Given the description of an element on the screen output the (x, y) to click on. 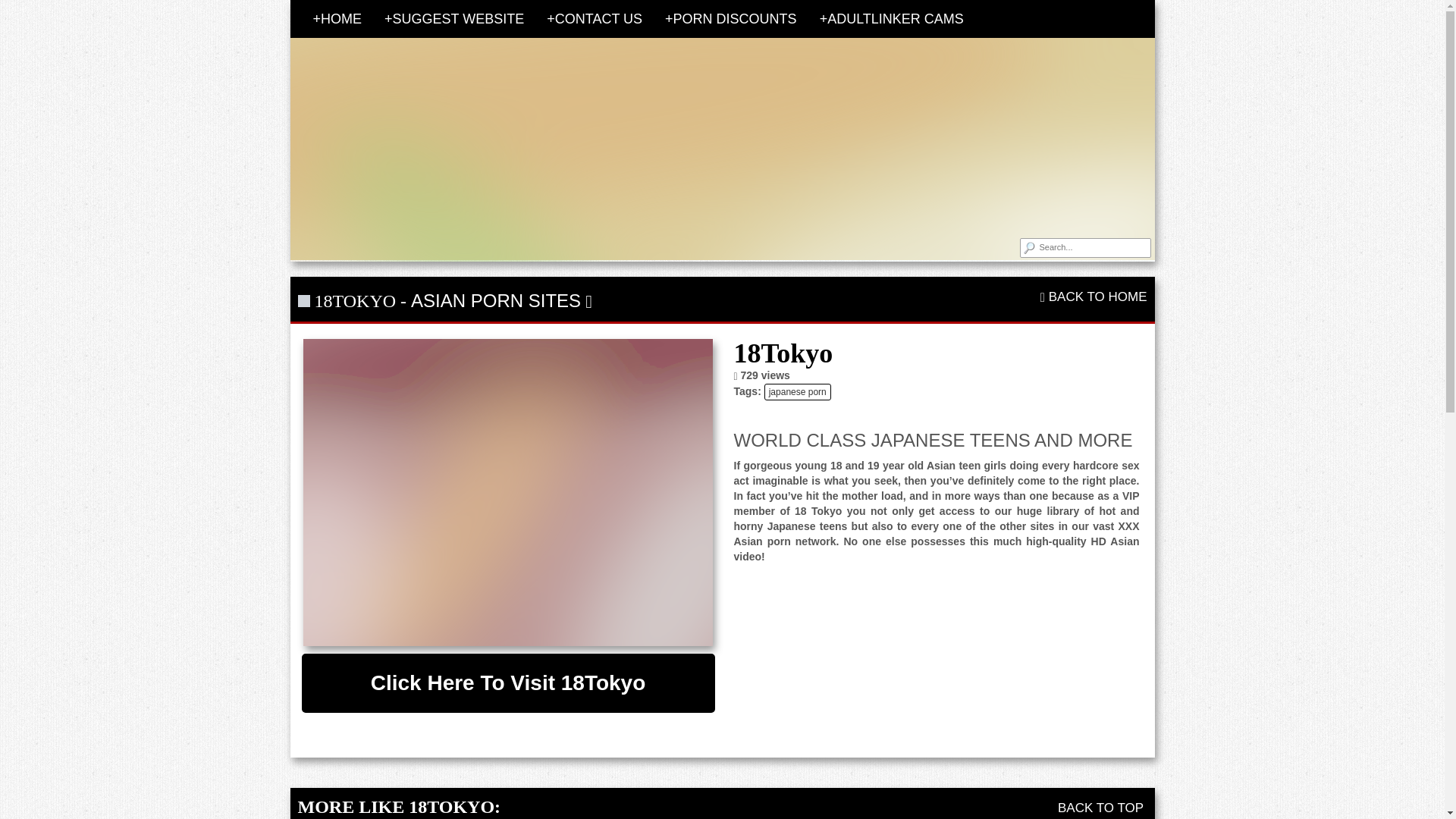
18Tokyo (507, 492)
18Tokyo (507, 492)
ASIAN PORN SITES (495, 300)
Click Here To Visit 18Tokyo (507, 682)
japanese porn (797, 392)
BACK TO HOME (1094, 296)
18Tokyo (507, 682)
BACK TO TOP (1102, 807)
